Given the description of an element on the screen output the (x, y) to click on. 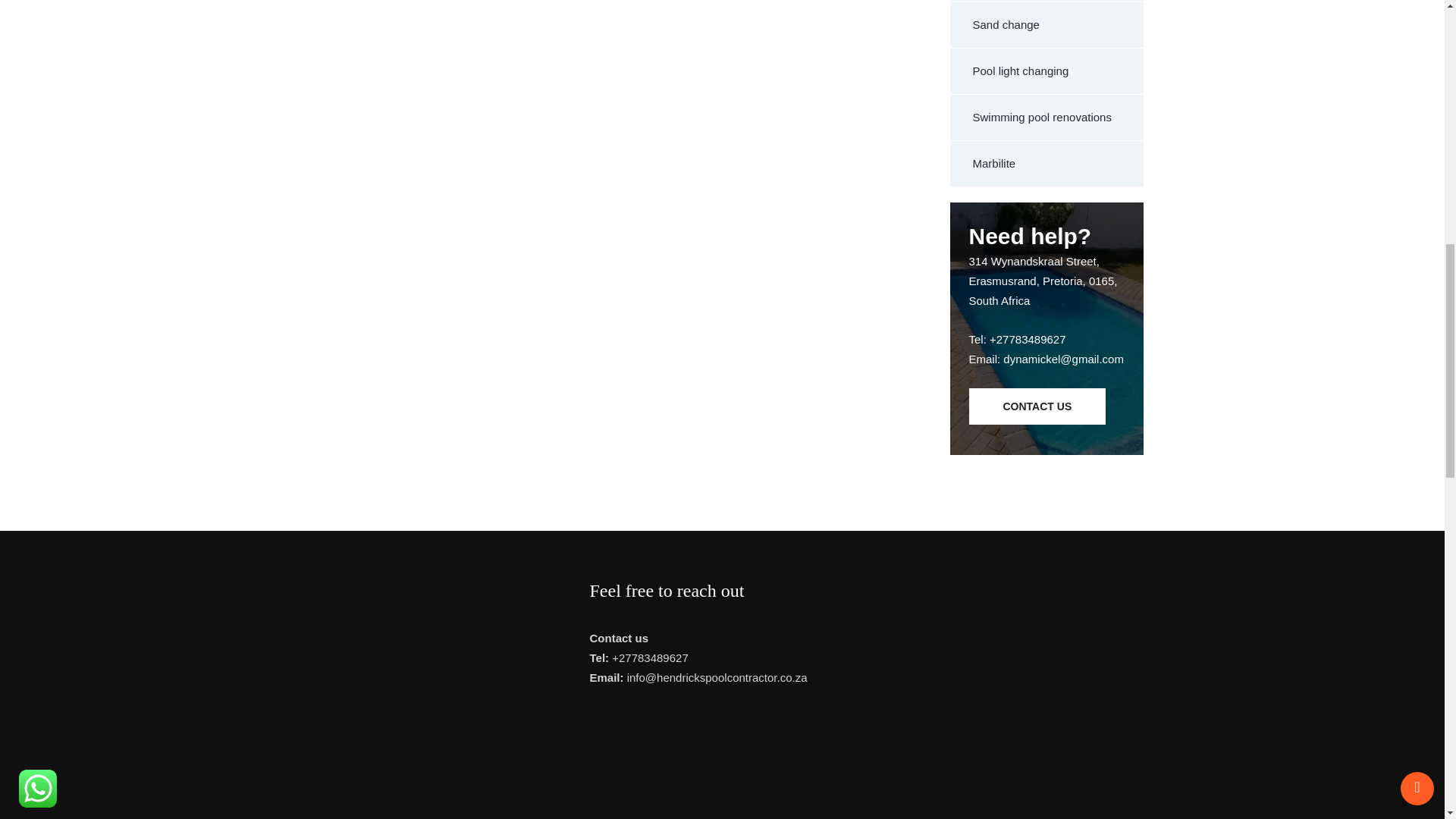
Swimming pool renovations (1045, 117)
Marbilite (1045, 163)
CONTACT US (1037, 406)
Leak detection (1045, 1)
Sand change (1045, 25)
Pool light changing (1045, 71)
